Given the description of an element on the screen output the (x, y) to click on. 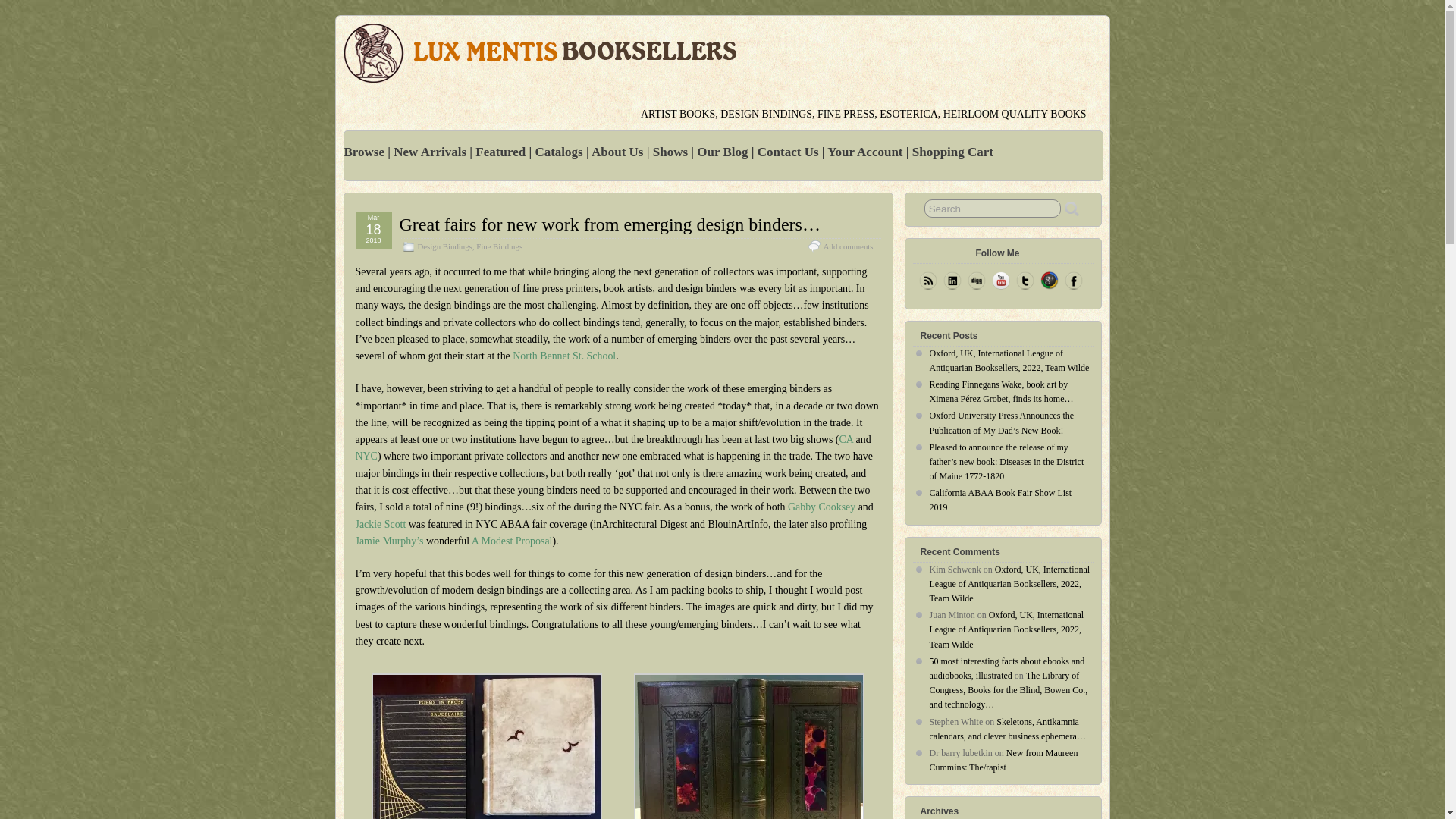
Search (992, 208)
About Us (618, 151)
Featured (502, 151)
Fine Bindings (499, 245)
New Arrivals (430, 151)
Our Blog (724, 151)
Contact Us (789, 151)
Search (992, 208)
Browse (365, 151)
About Us (618, 151)
